Given the description of an element on the screen output the (x, y) to click on. 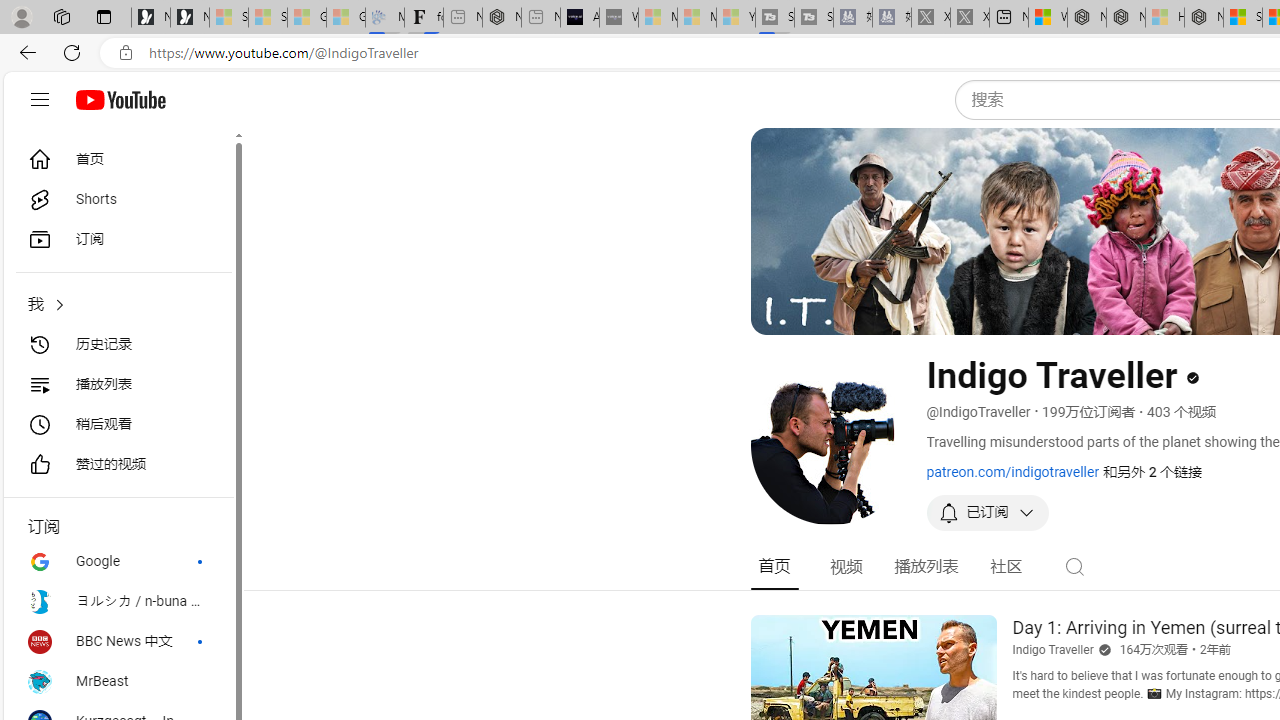
Nordace - Nordace Siena Is Not An Ordinary Backpack (1203, 17)
Microsoft Start Sports - Sleeping (657, 17)
patreon.com/indigotraveller (1012, 471)
